Given the description of an element on the screen output the (x, y) to click on. 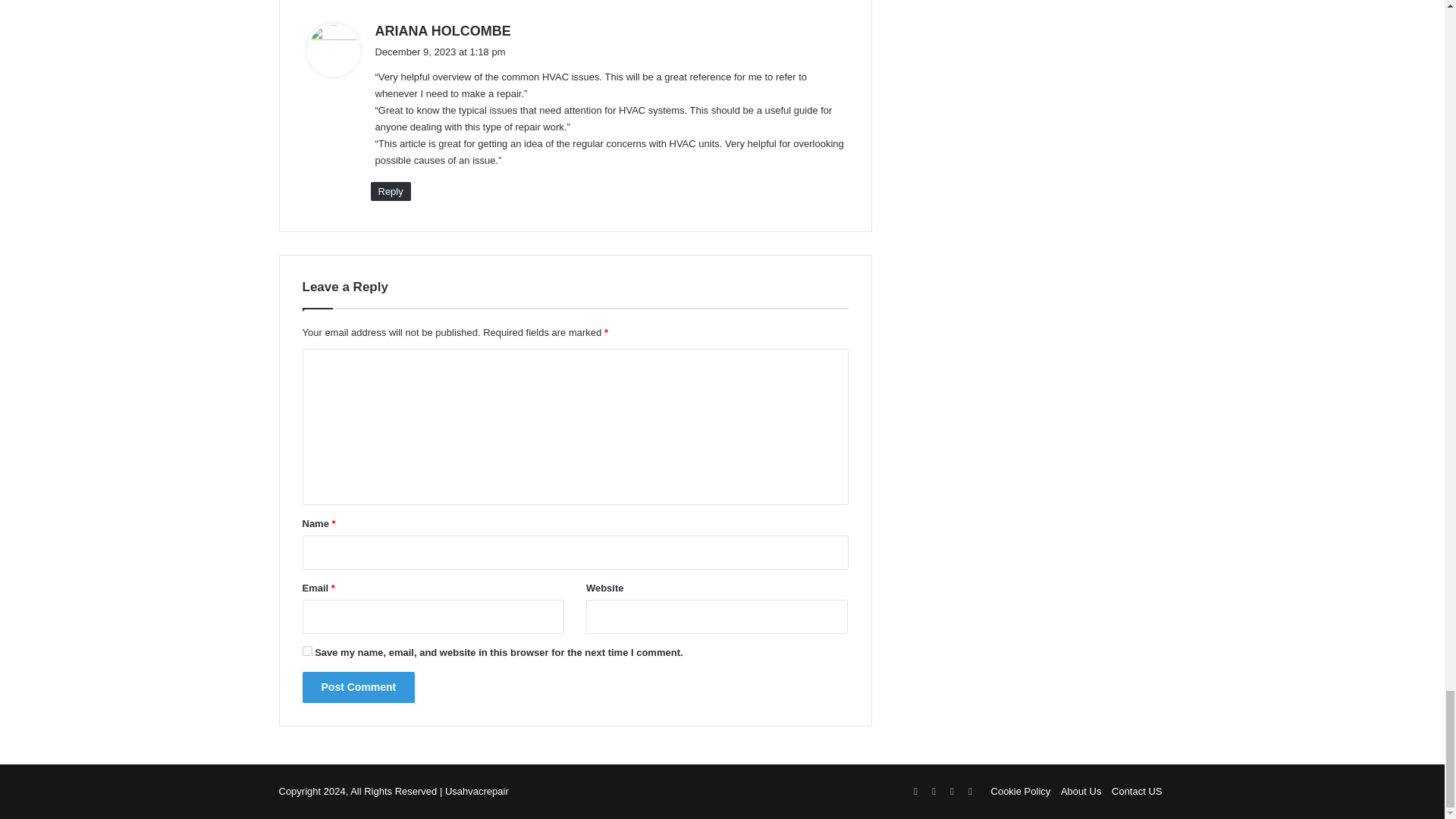
Post Comment (357, 686)
yes (306, 651)
